Given the description of an element on the screen output the (x, y) to click on. 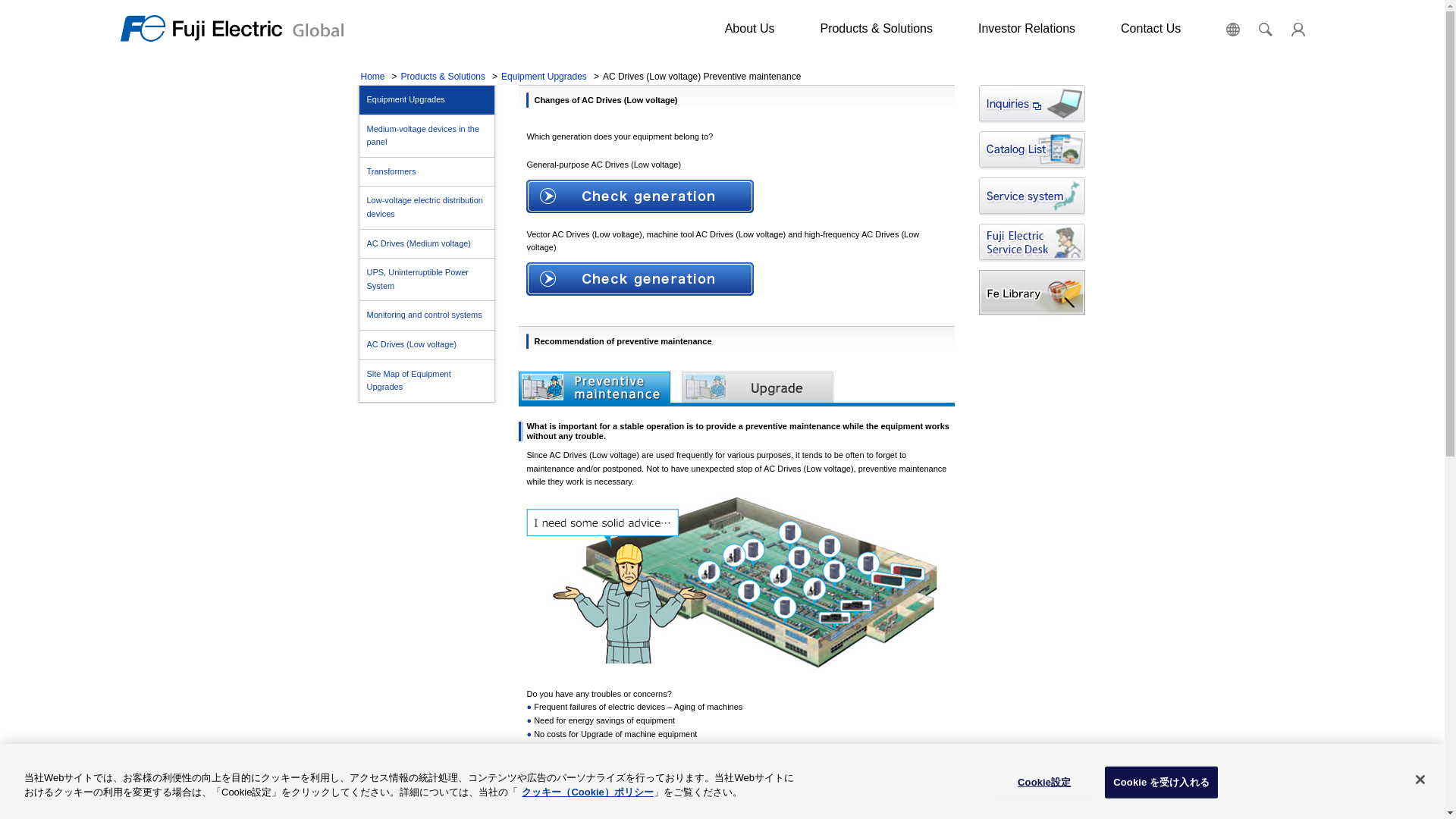
Search (1270, 92)
Investor Relations (1026, 28)
Equipment Upgrades (543, 76)
About Us (749, 28)
Home  (373, 76)
